Given the description of an element on the screen output the (x, y) to click on. 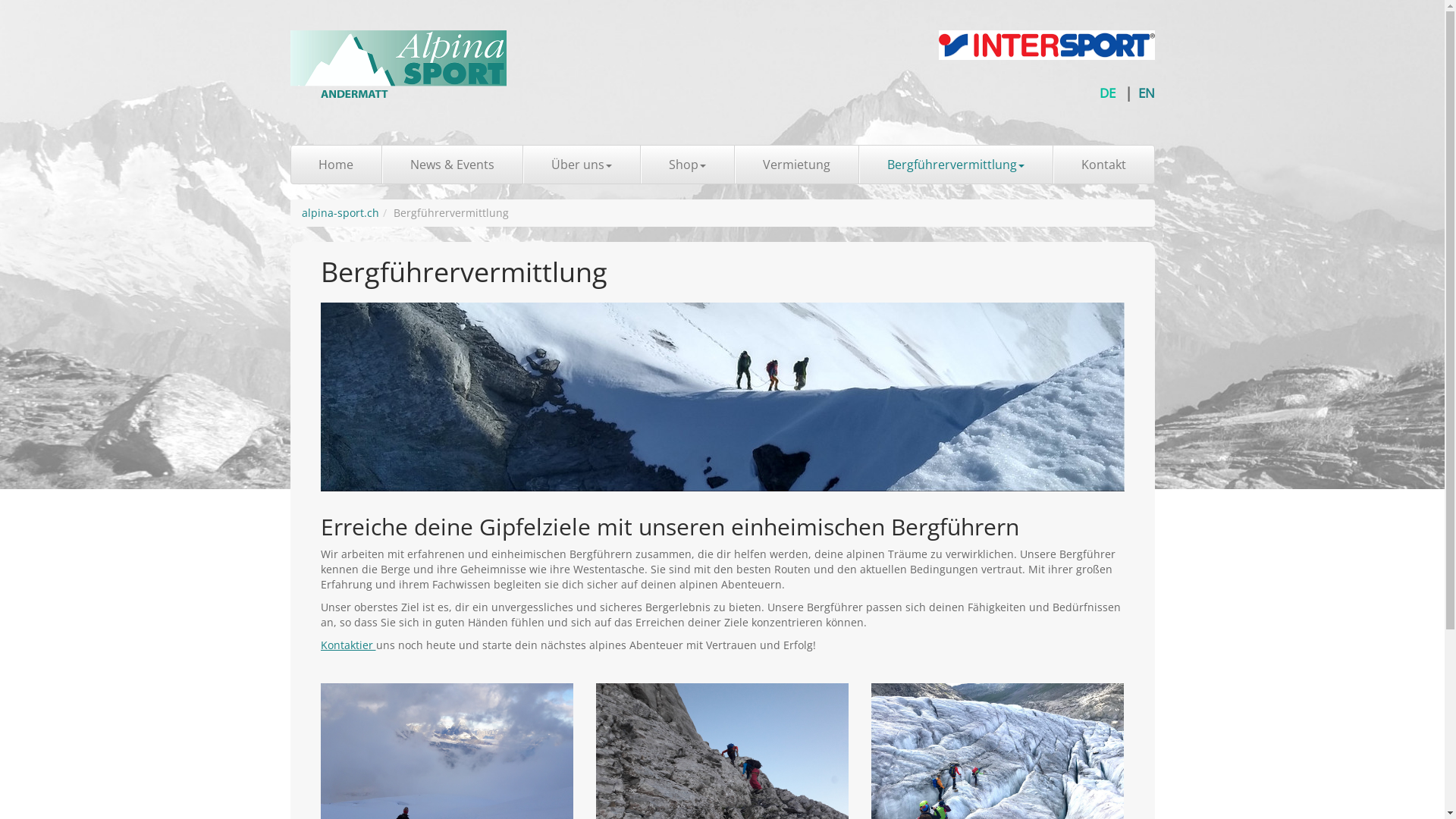
News & Events Element type: text (452, 164)
EN Element type: text (1145, 92)
Kontaktier Element type: text (347, 644)
DE Element type: text (1107, 92)
alpina-sport.ch Element type: text (340, 212)
Alpina Sport AG - Home Element type: hover (397, 63)
Vermietung Element type: text (796, 164)
Kontakt Element type: text (1102, 164)
Home Element type: text (336, 164)
Shop Element type: text (687, 164)
